Given the description of an element on the screen output the (x, y) to click on. 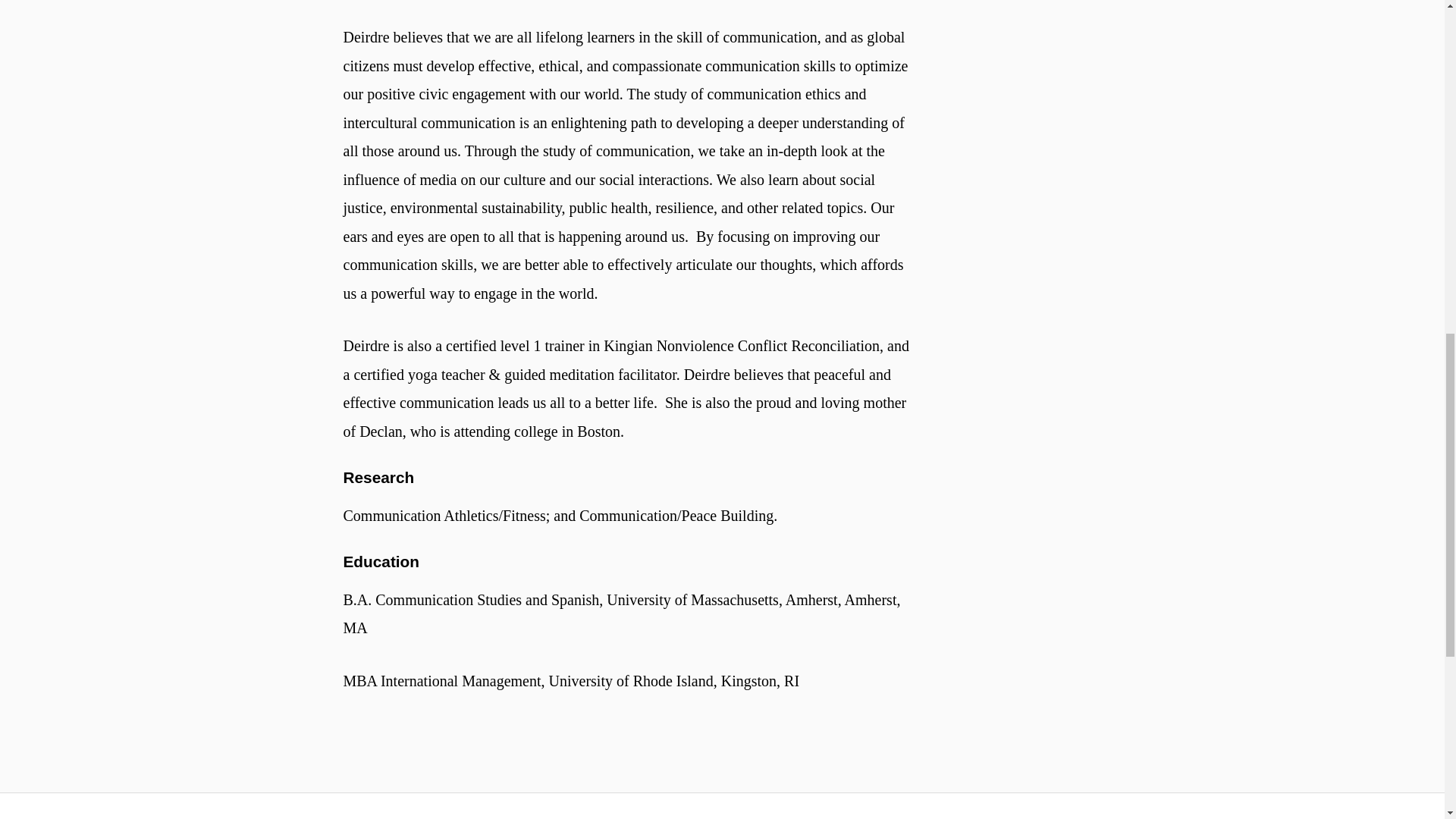
Give (1005, 806)
Apply (627, 806)
Tour (816, 806)
Connect (437, 806)
